Given the description of an element on the screen output the (x, y) to click on. 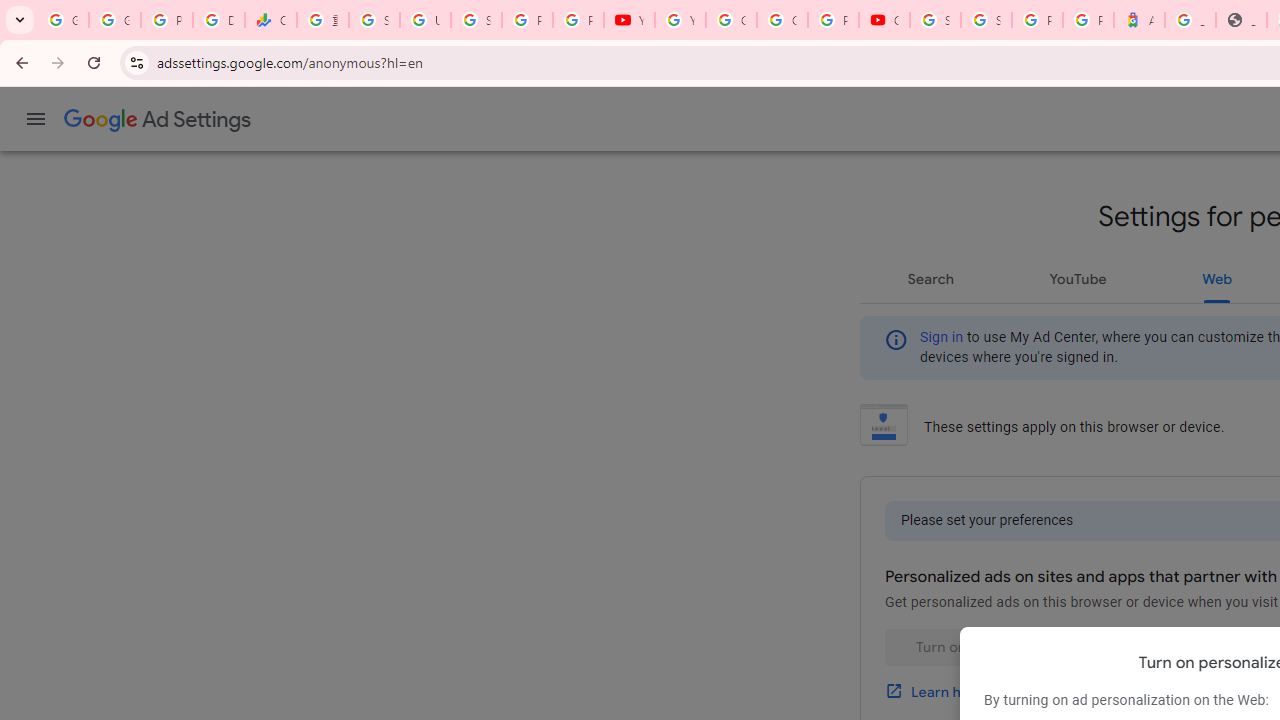
Create your Google Account (781, 20)
Sign in - Google Accounts (374, 20)
